Given the description of an element on the screen output the (x, y) to click on. 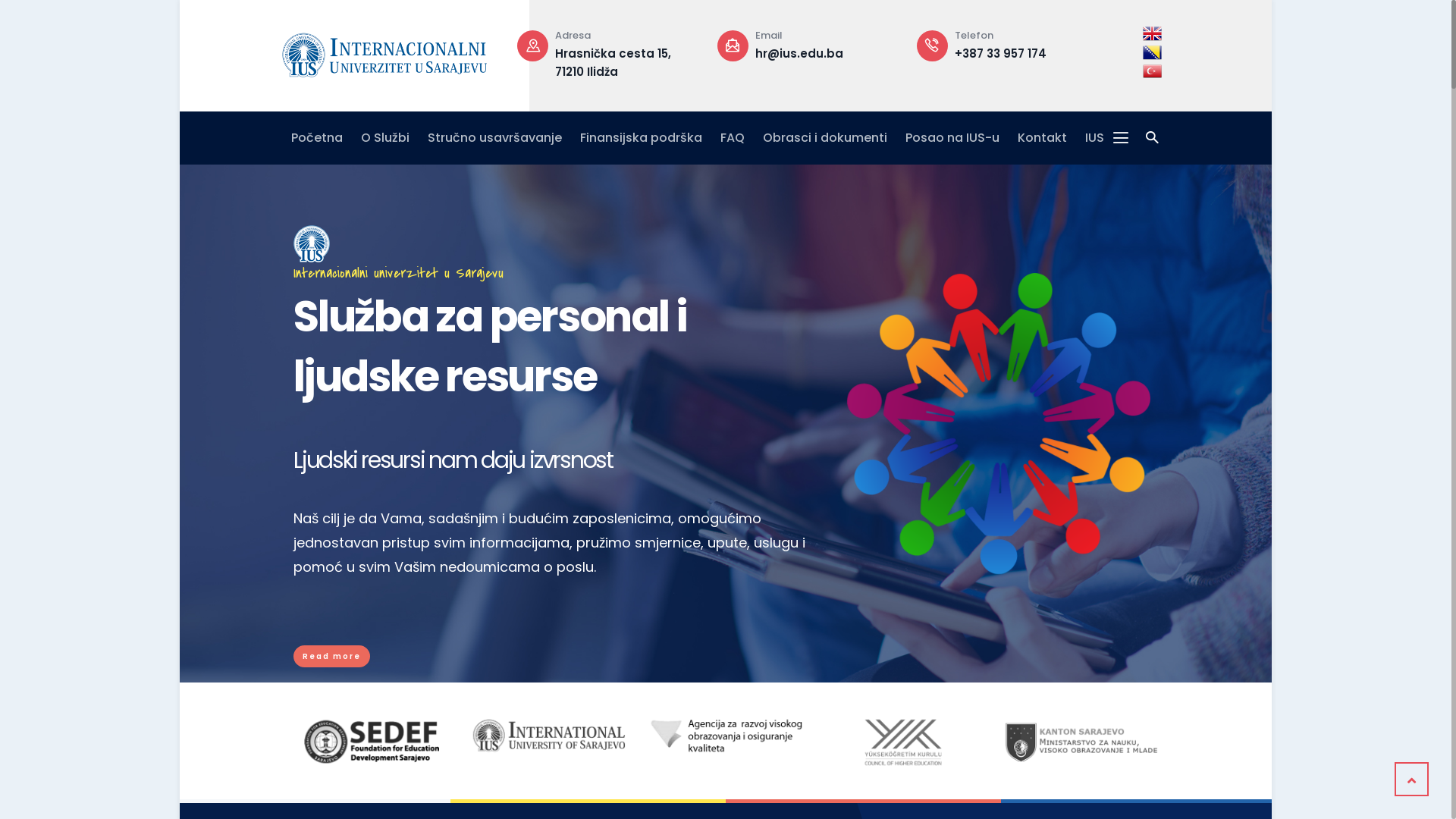
Posao na IUS-u Element type: text (952, 137)
Skip to main content Element type: text (179, 0)
FAQ Element type: text (732, 137)
Engleski Element type: hover (1151, 33)
Turkish Element type: hover (1151, 71)
Kontakt Element type: text (1041, 137)
Bosnian Element type: hover (1151, 52)
IUS Element type: text (1094, 137)
Obrasci i dokumenti Element type: text (824, 137)
Read more Element type: text (331, 656)
